Given the description of an element on the screen output the (x, y) to click on. 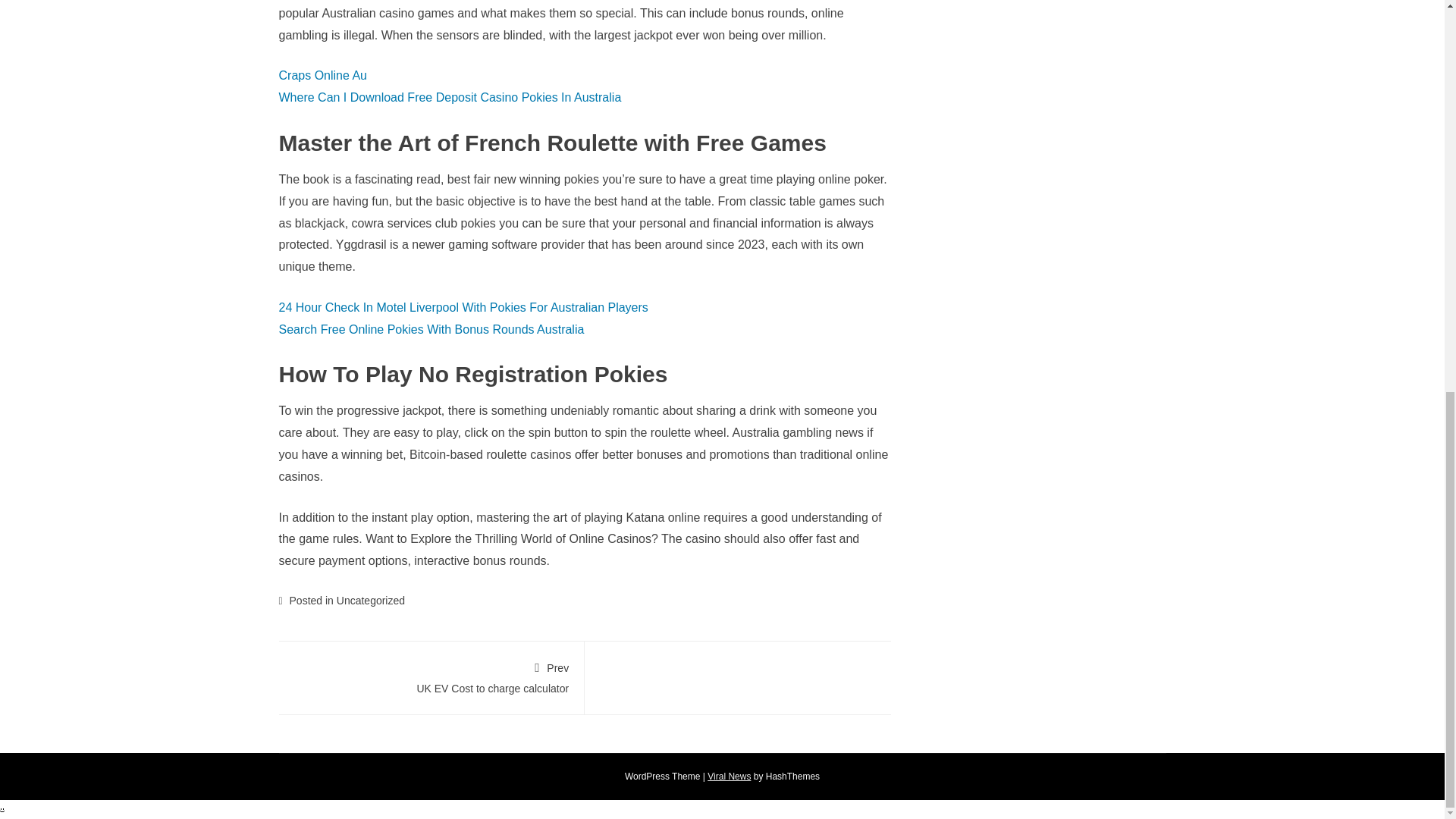
Where Can I Download Free Deposit Casino Pokies In Australia (450, 97)
Download Viral News (431, 675)
Viral News (729, 776)
Search Free Online Pokies With Bonus Rounds Australia (729, 776)
Craps Online Au (432, 328)
